Given the description of an element on the screen output the (x, y) to click on. 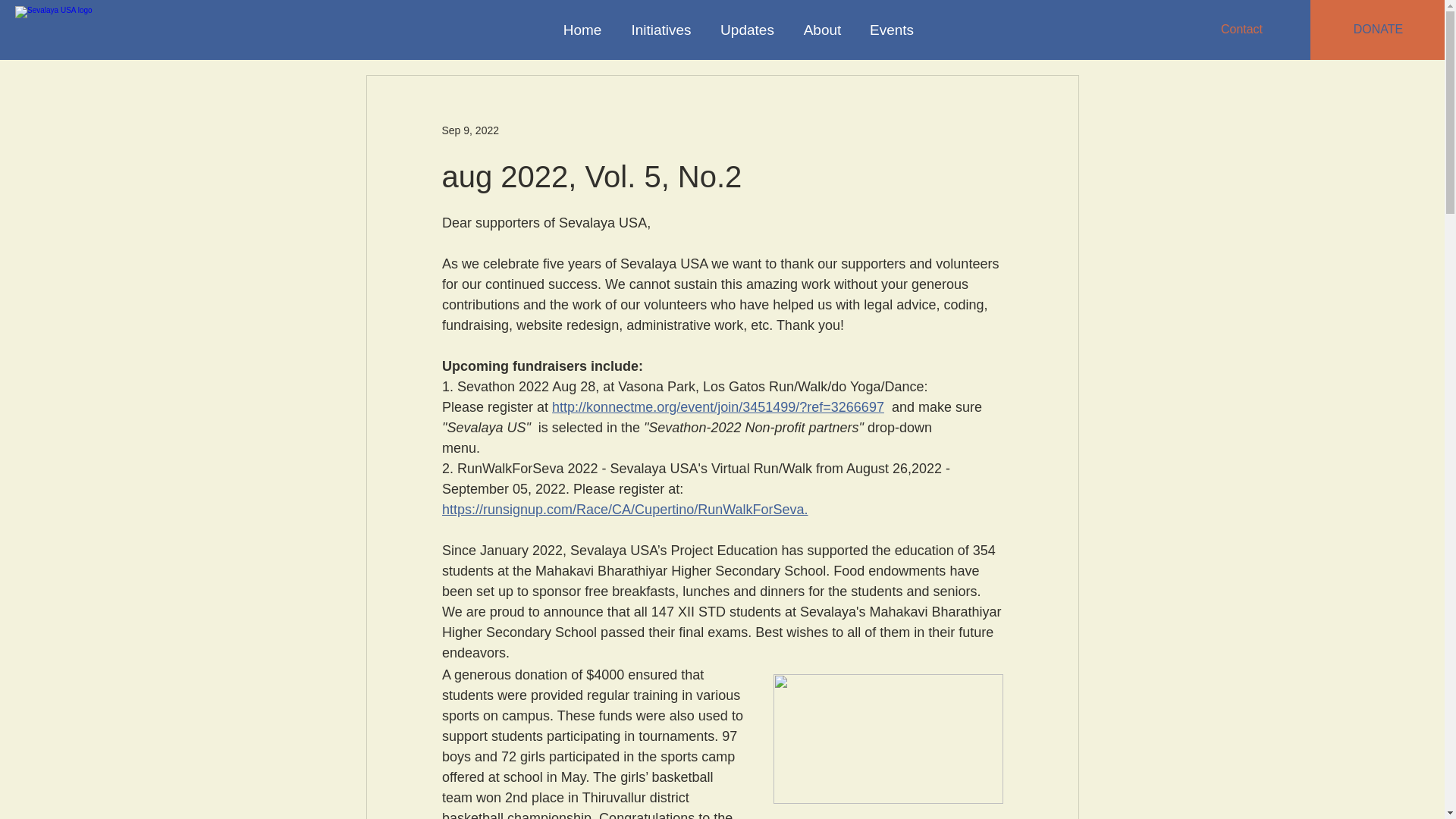
Initiatives (660, 29)
About (823, 29)
Contact (1240, 29)
Events (892, 29)
Home (581, 29)
Sevalaya USA logo - Changing One Life At A Time (140, 29)
Sep 9, 2022 (470, 130)
Updates (747, 29)
